Given the description of an element on the screen output the (x, y) to click on. 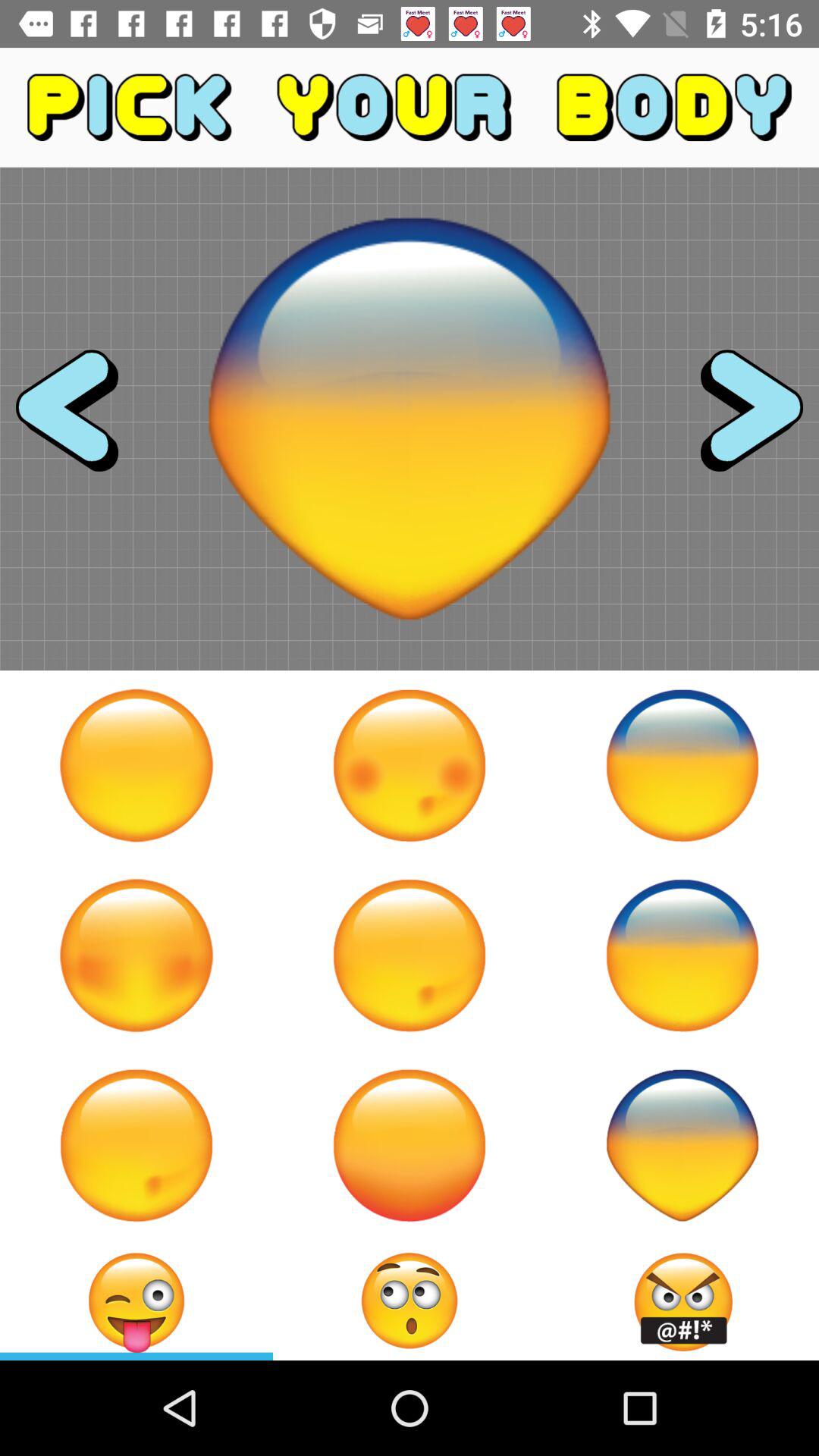
item choosen (409, 1300)
